Given the description of an element on the screen output the (x, y) to click on. 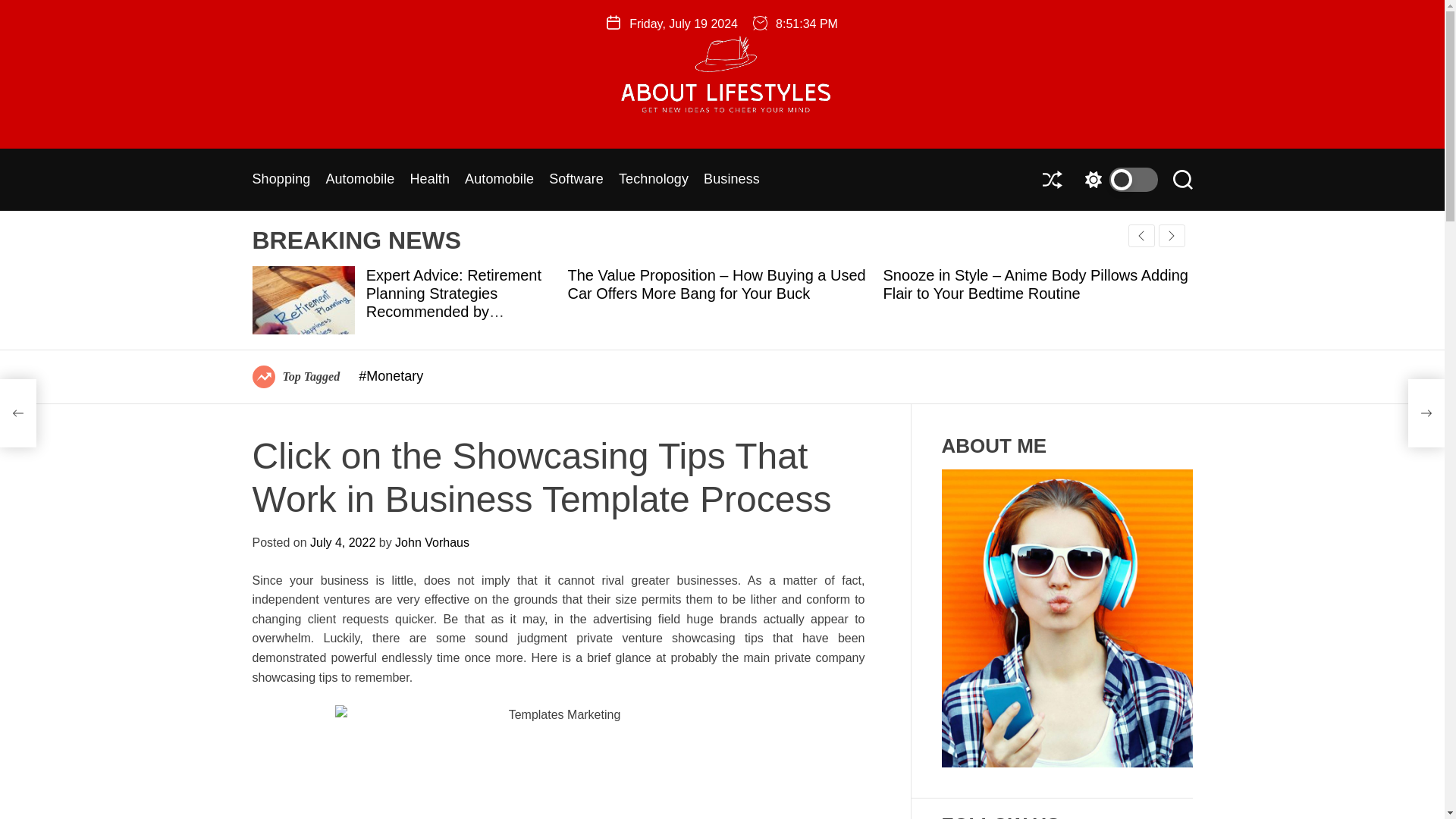
Switch color mode (1117, 179)
John Vorhaus (431, 542)
Business (731, 179)
Shopping (280, 179)
Automobile (499, 179)
July 4, 2022 (342, 542)
Technology (653, 179)
Software (576, 179)
Automobile (359, 179)
Health (429, 179)
